Given the description of an element on the screen output the (x, y) to click on. 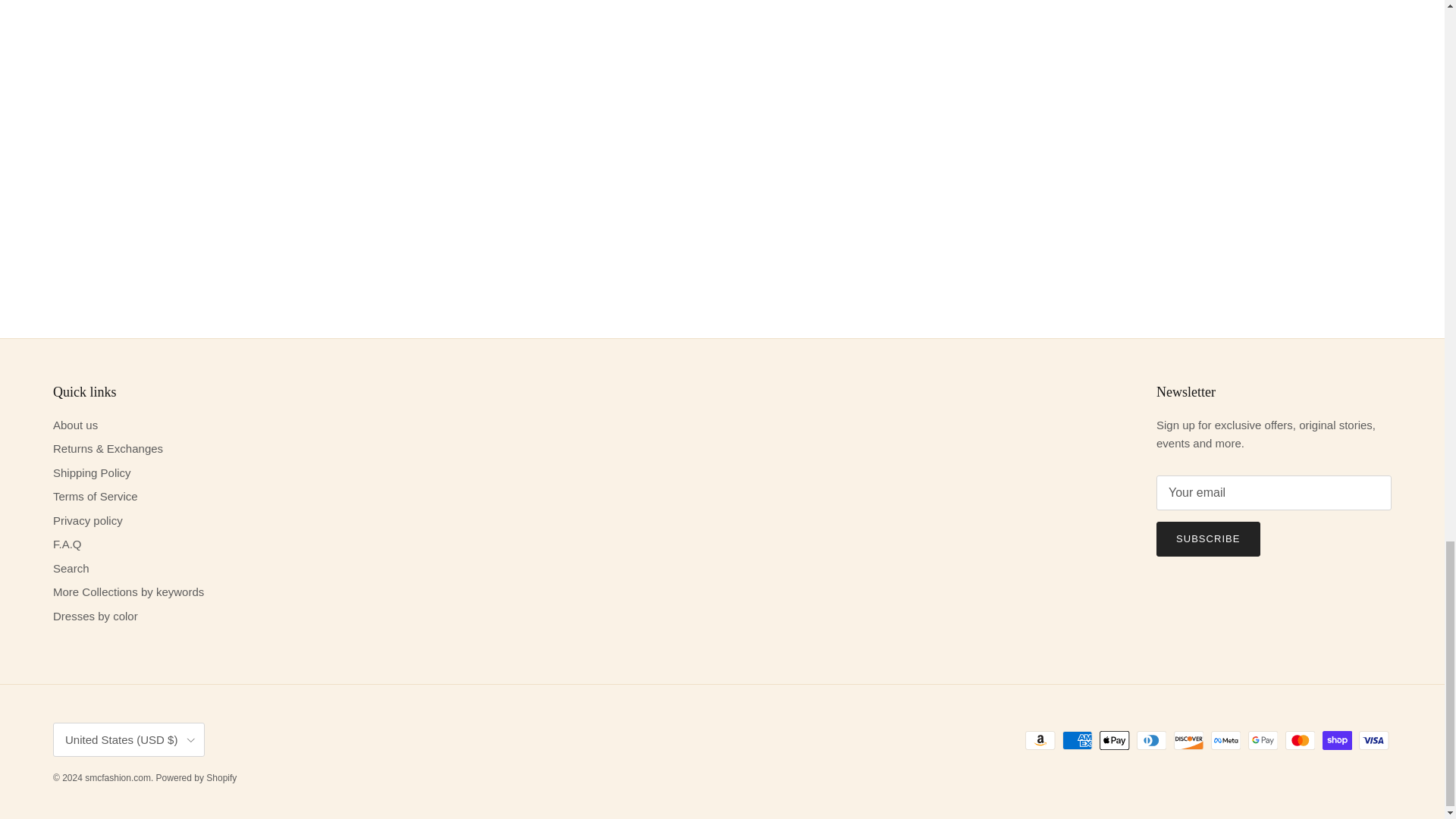
Shop Pay (1337, 740)
Discover (1188, 740)
Google Pay (1262, 740)
American Express (1077, 740)
Meta Pay (1225, 740)
Mastercard (1299, 740)
Diners Club (1151, 740)
Visa (1373, 740)
Apple Pay (1114, 740)
Amazon (1040, 740)
